Given the description of an element on the screen output the (x, y) to click on. 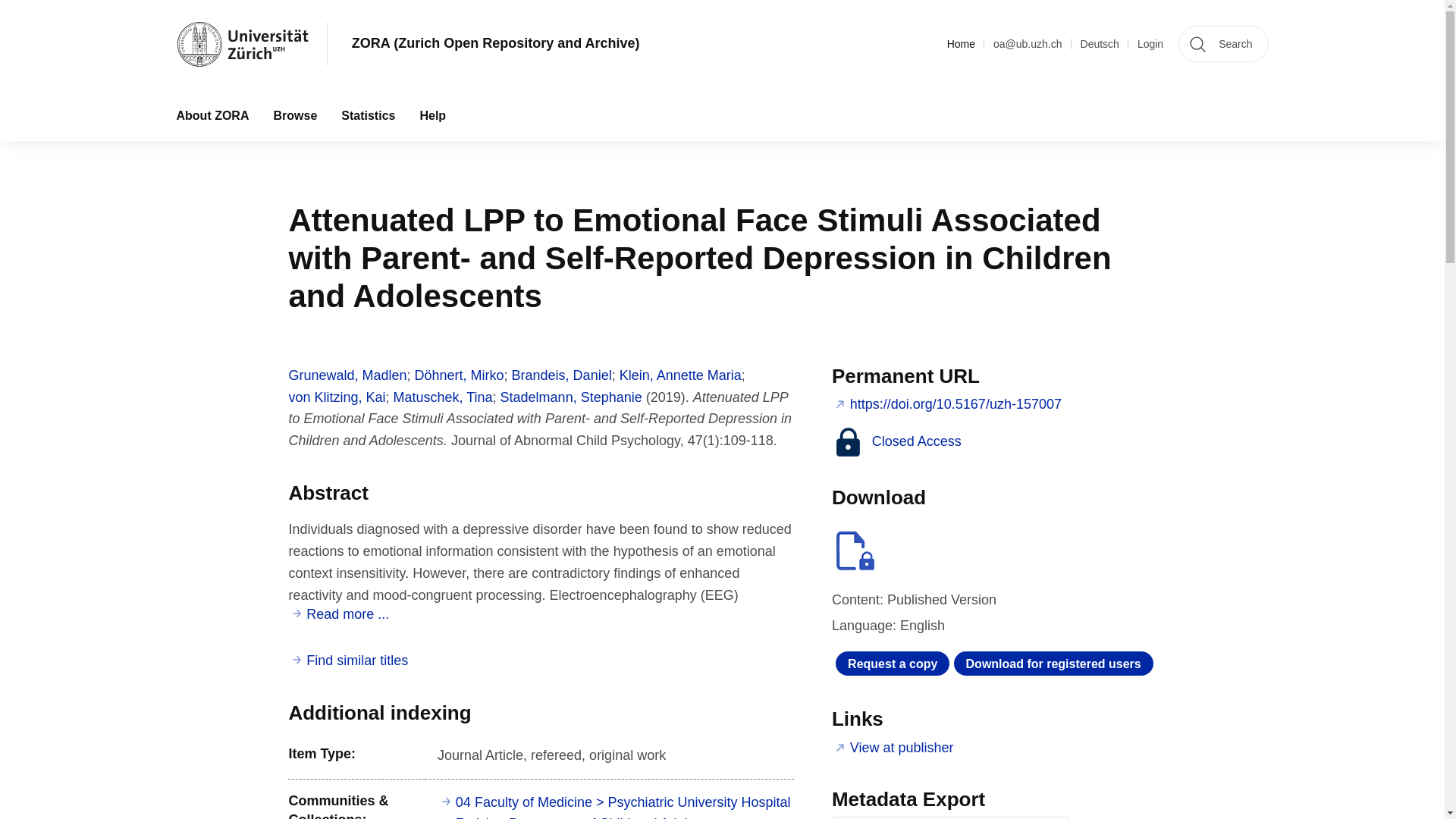
Login (1150, 44)
Help (432, 115)
Search (1222, 43)
Grunewald, Madlen (347, 375)
Browse (294, 115)
Matuschek, Tina (442, 397)
Statistics (368, 115)
Brandeis, Daniel (561, 375)
Home (961, 44)
Deutsch (1099, 44)
